Given the description of an element on the screen output the (x, y) to click on. 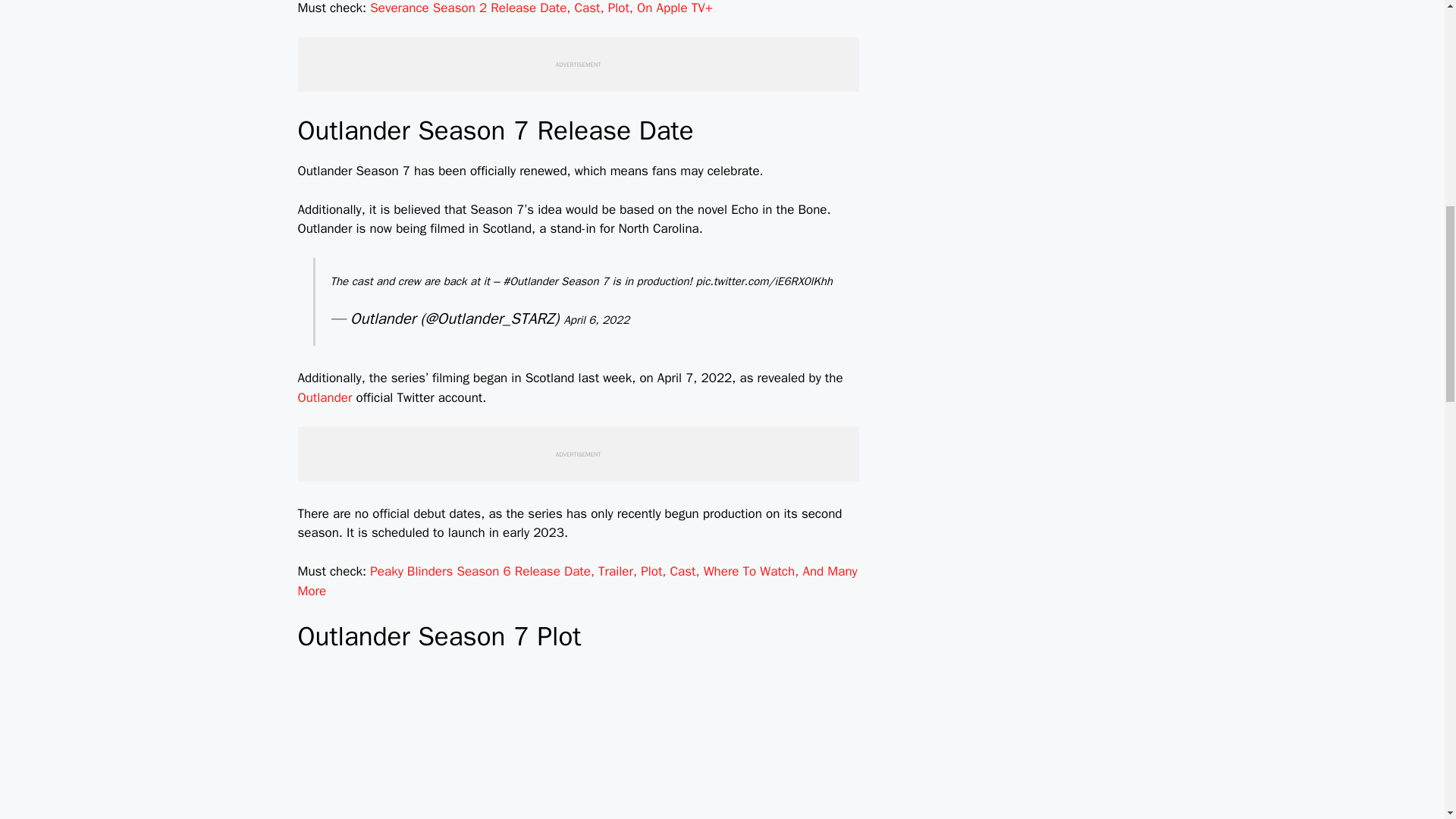
Outlander (324, 397)
April 6, 2022 (595, 319)
